Given the description of an element on the screen output the (x, y) to click on. 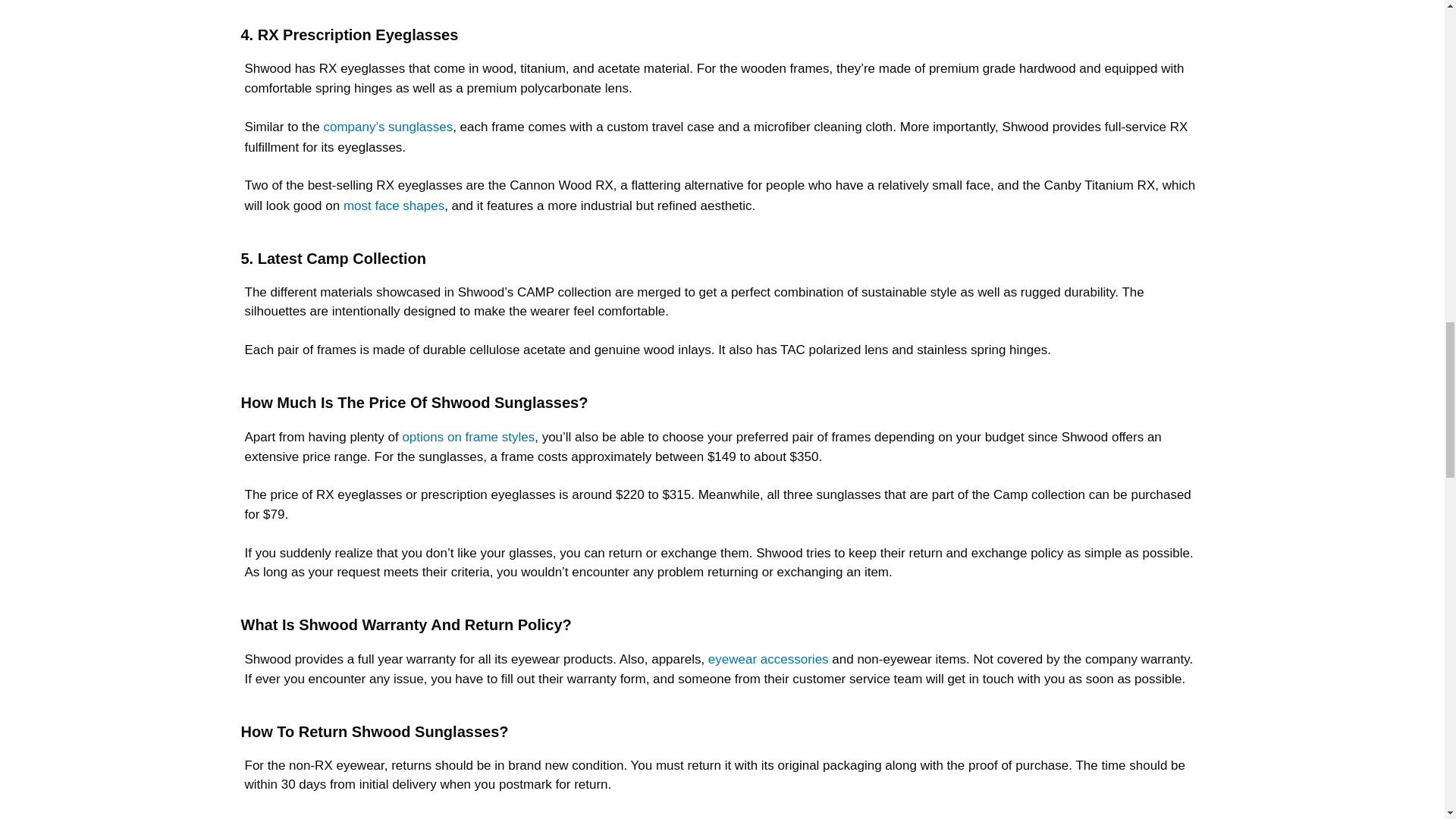
eyewear accessories (767, 658)
options on frame styles (467, 436)
most face shapes (393, 205)
